Given the description of an element on the screen output the (x, y) to click on. 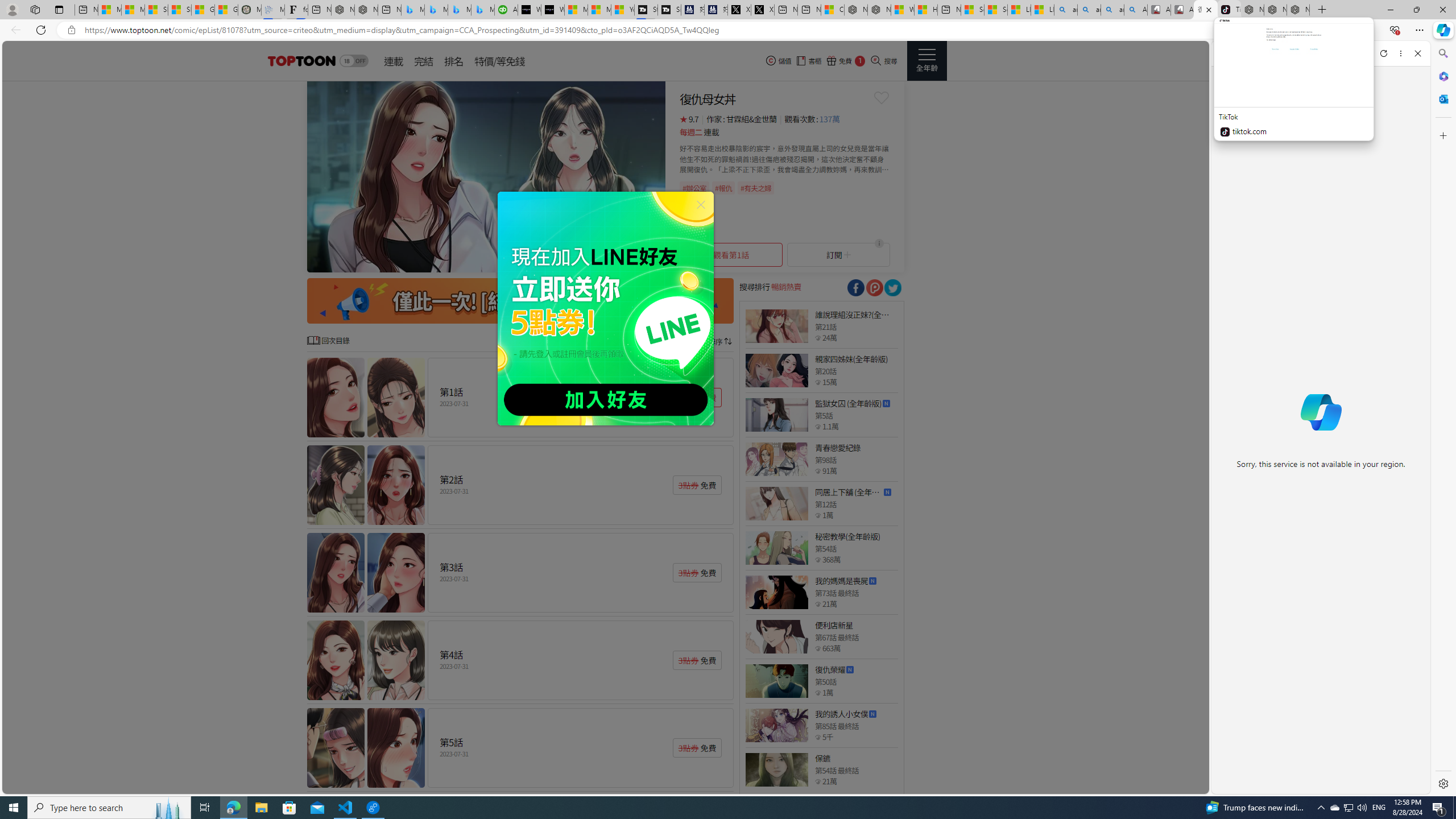
Accounting Software for Accountants, CPAs and Bookkeepers (505, 9)
Class:  switch_18mode actionAdultBtn (353, 60)
Nordace - Siena Pro 15 Essential Set (1297, 9)
Open link in new tab (1366, 53)
